Given the description of an element on the screen output the (x, y) to click on. 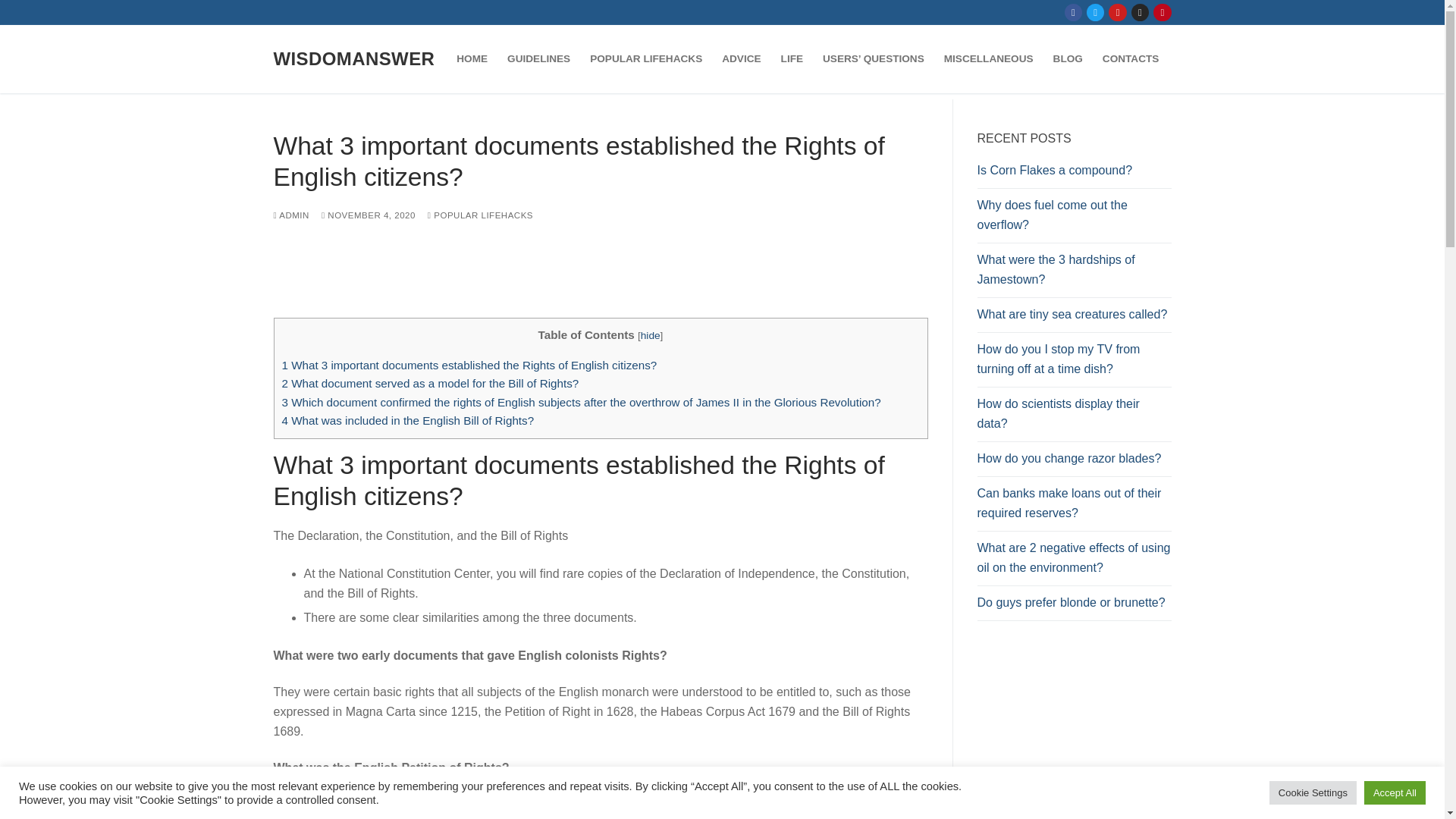
4 What was included in the English Bill of Rights? (408, 420)
HOME (471, 59)
GUIDELINES (538, 59)
ADMIN (290, 215)
Why does fuel come out the overflow? (1073, 218)
Instagram (1139, 12)
Youtube (1117, 12)
BLOG (1068, 59)
Pinterest (1162, 12)
WISDOMANSWER (353, 58)
